Given the description of an element on the screen output the (x, y) to click on. 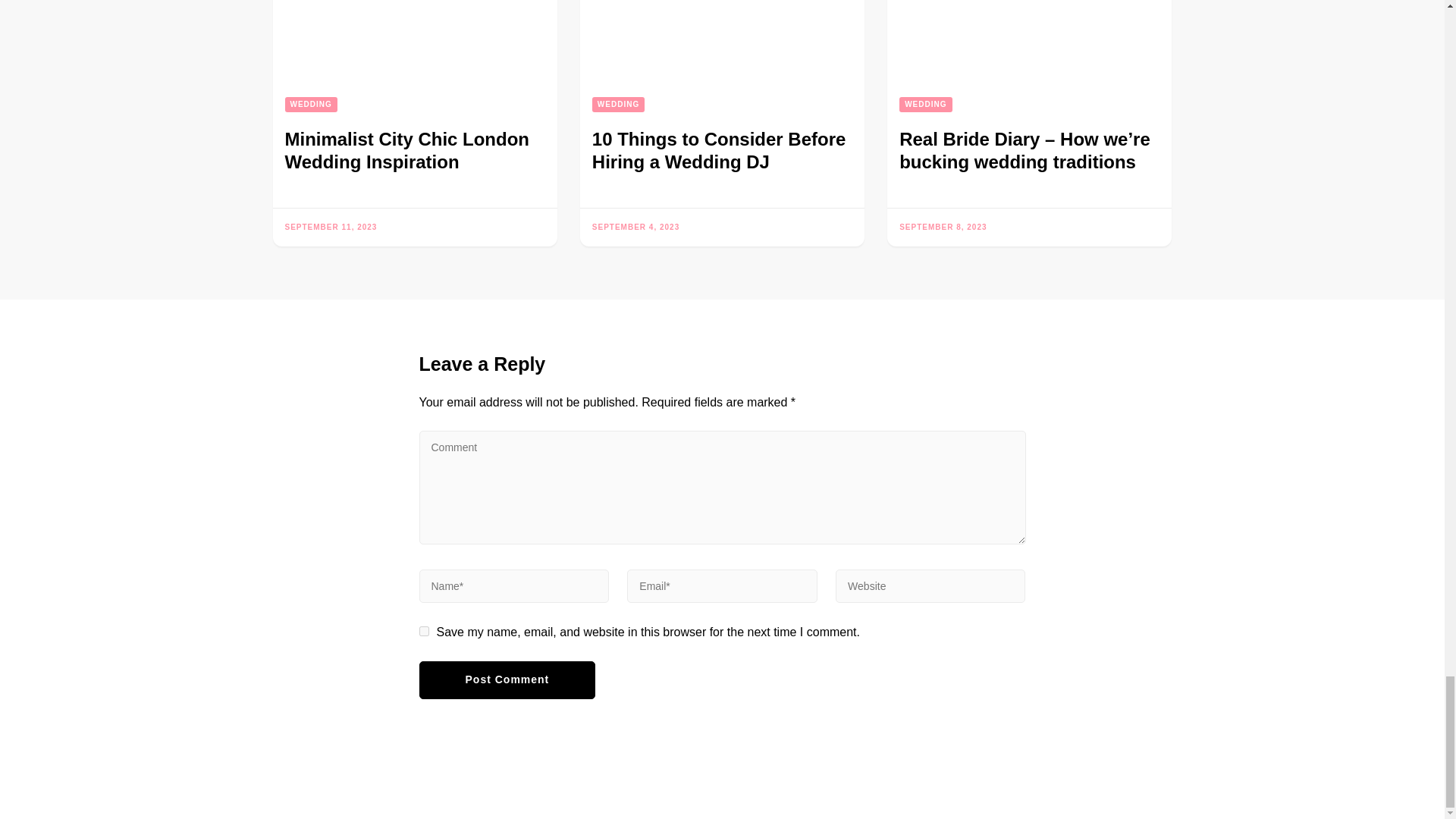
Post Comment (507, 679)
SEPTEMBER 11, 2023 (331, 226)
WEDDING (311, 104)
Minimalist City Chic London Wedding Inspiration (407, 149)
yes (423, 631)
